Given the description of an element on the screen output the (x, y) to click on. 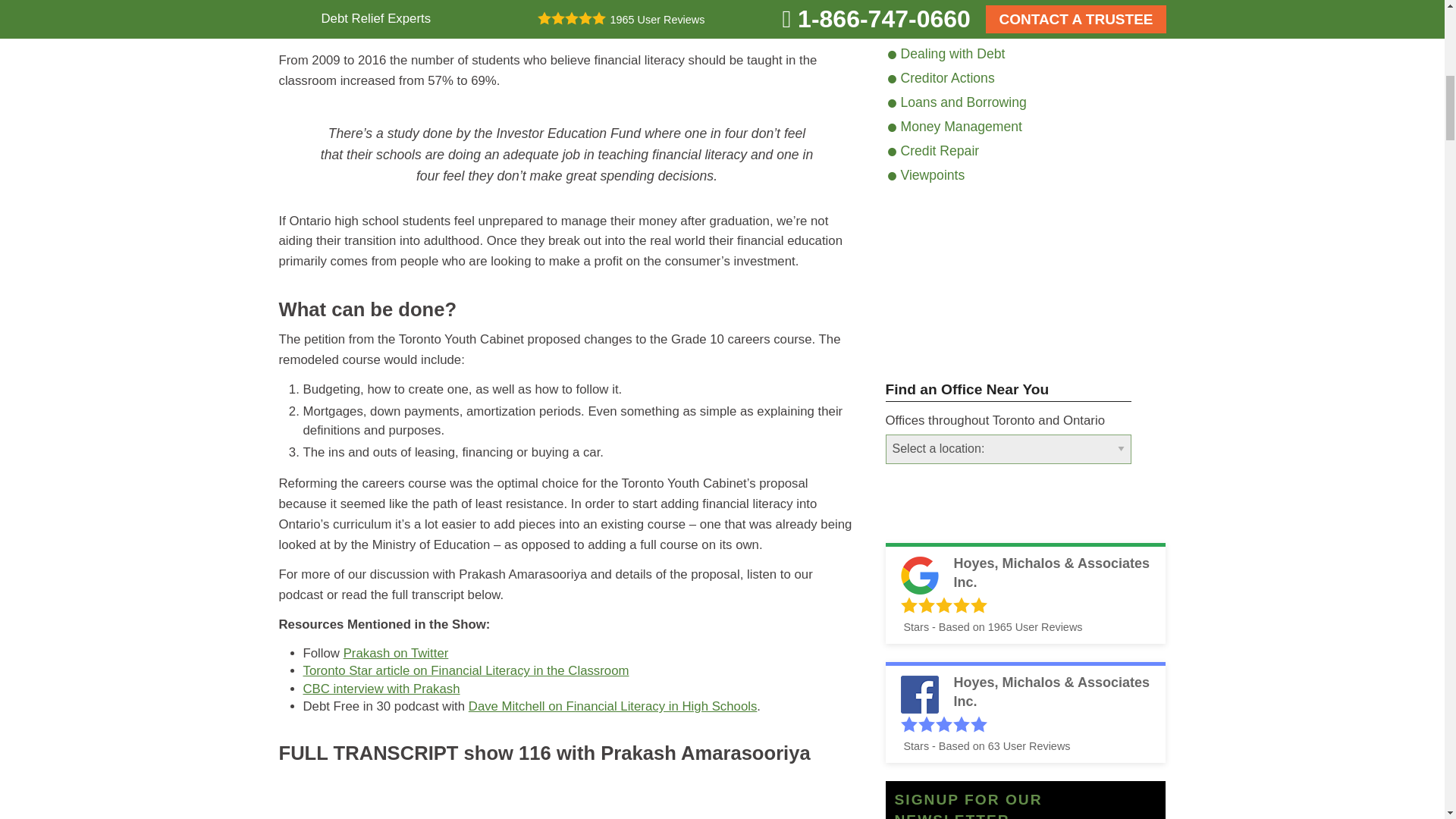
Toronto Star article on Financial Literacy in the Classroom (465, 670)
Prakash on Twitter (395, 653)
financial-literacy-ontario-curriculum (567, 796)
Dave Mitchell on Financial Literacy in High Schools (612, 706)
CBC interview with Prakash (381, 688)
